Given the description of an element on the screen output the (x, y) to click on. 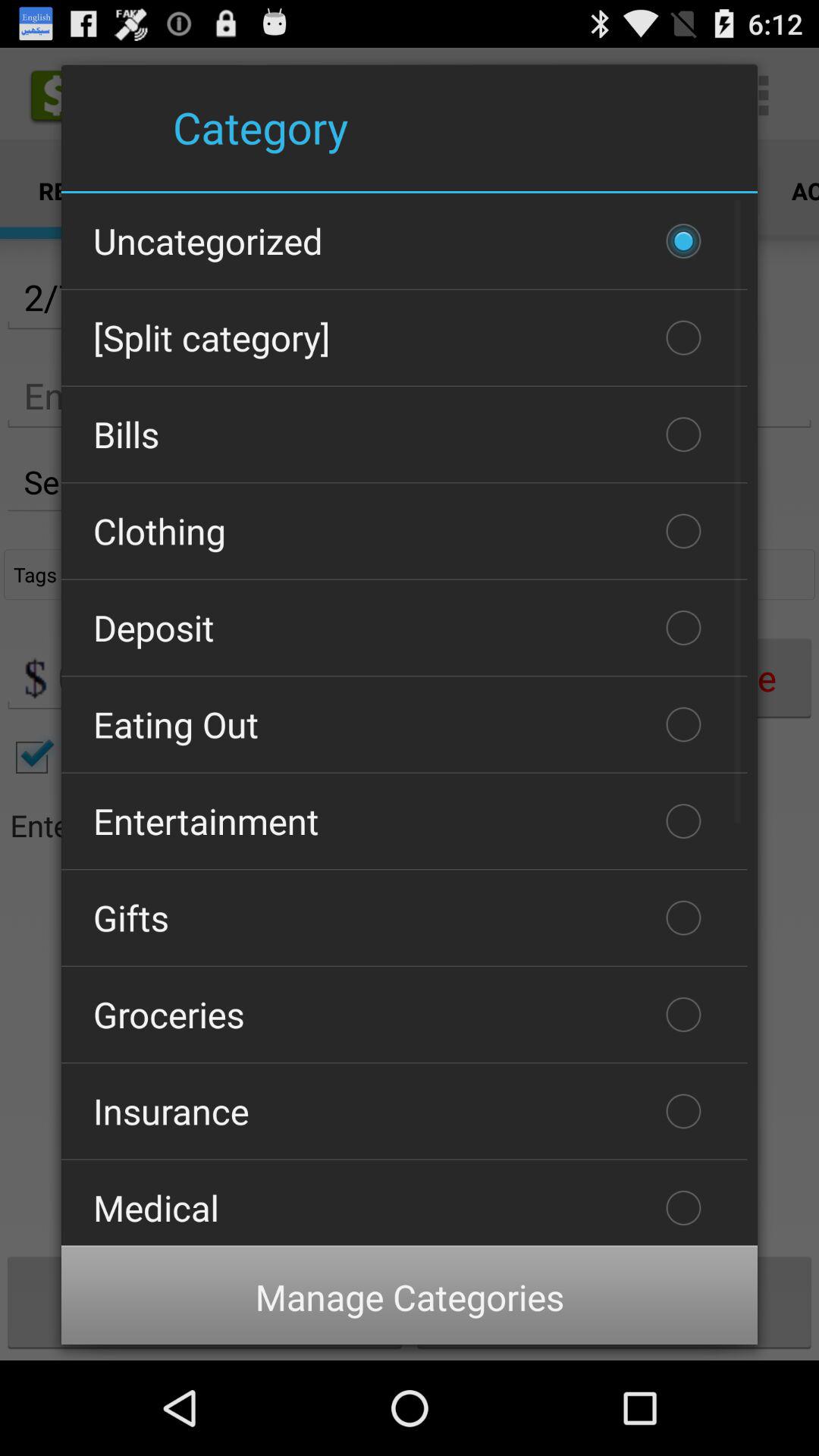
flip to gifts checkbox (404, 917)
